Given the description of an element on the screen output the (x, y) to click on. 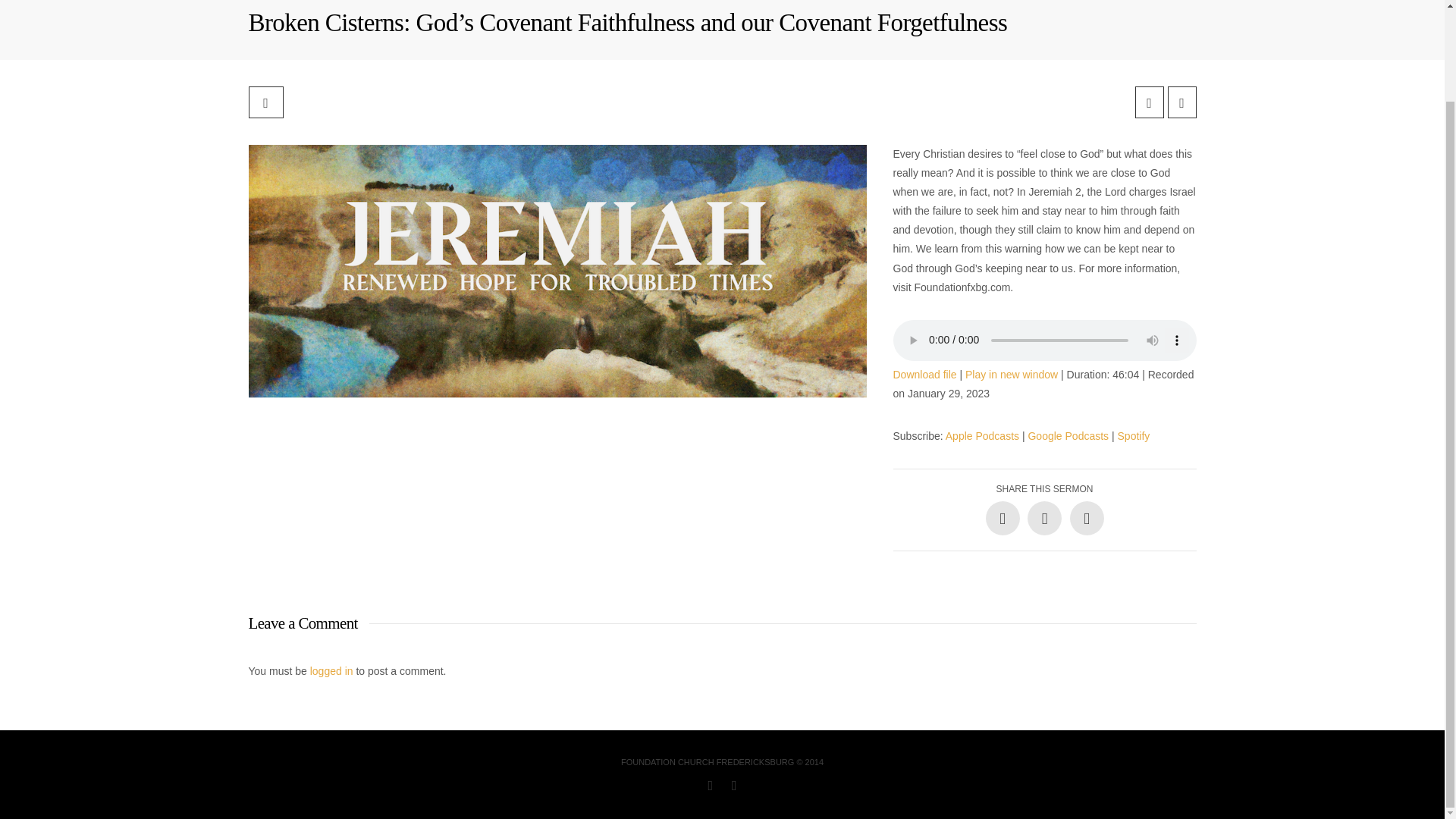
Spotify (1134, 435)
Share via Email (1085, 518)
Spotify (1134, 435)
Play in new window (1011, 374)
Google Podcasts (1067, 435)
logged in (331, 671)
Share on Facebook (1002, 518)
Download file (924, 374)
Google Podcasts (1067, 435)
Share on Twitter (1044, 518)
Apple Podcasts (981, 435)
Apple Podcasts (981, 435)
